Given the description of an element on the screen output the (x, y) to click on. 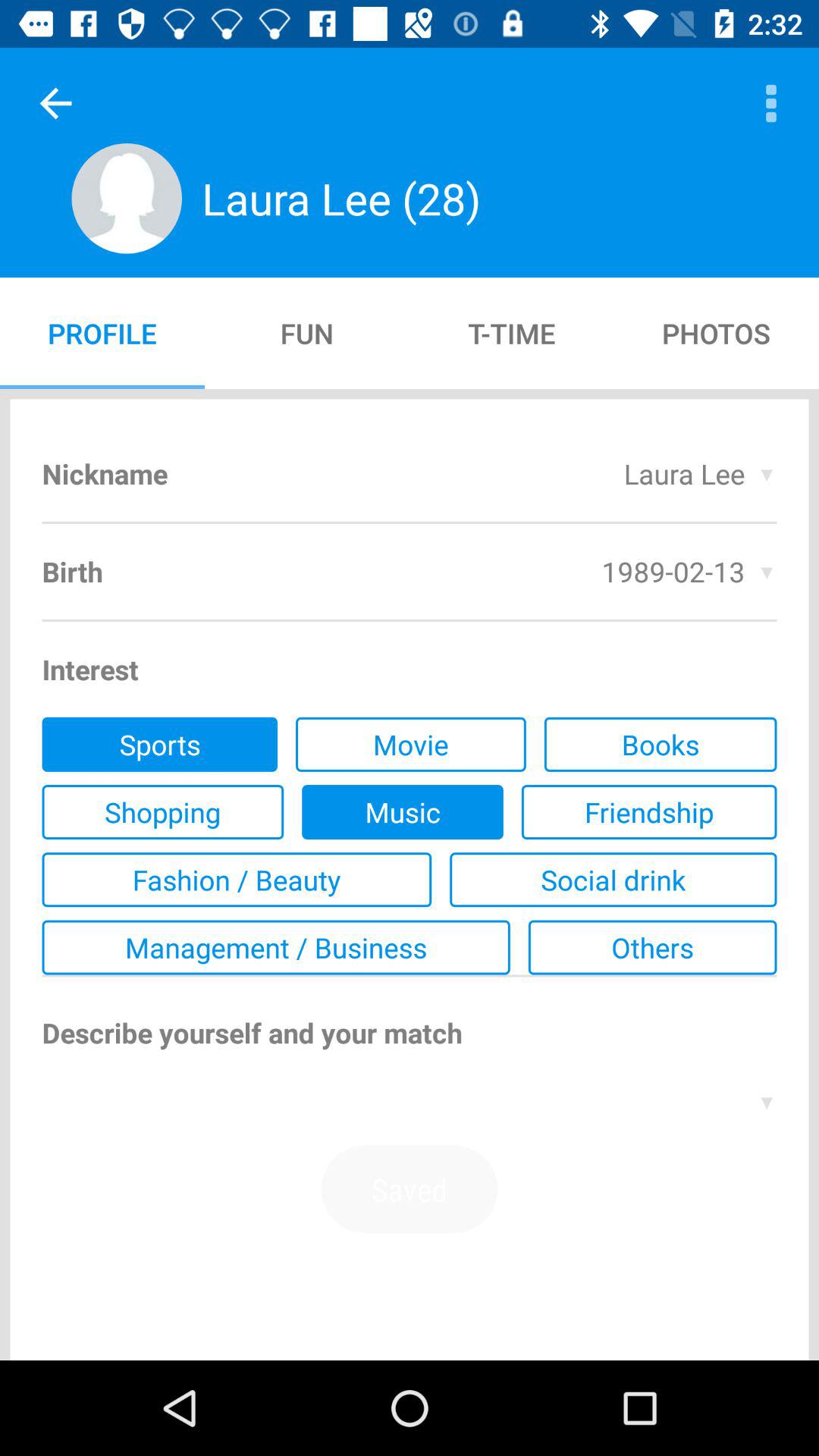
turn off item next to friendship icon (402, 811)
